Given the description of an element on the screen output the (x, y) to click on. 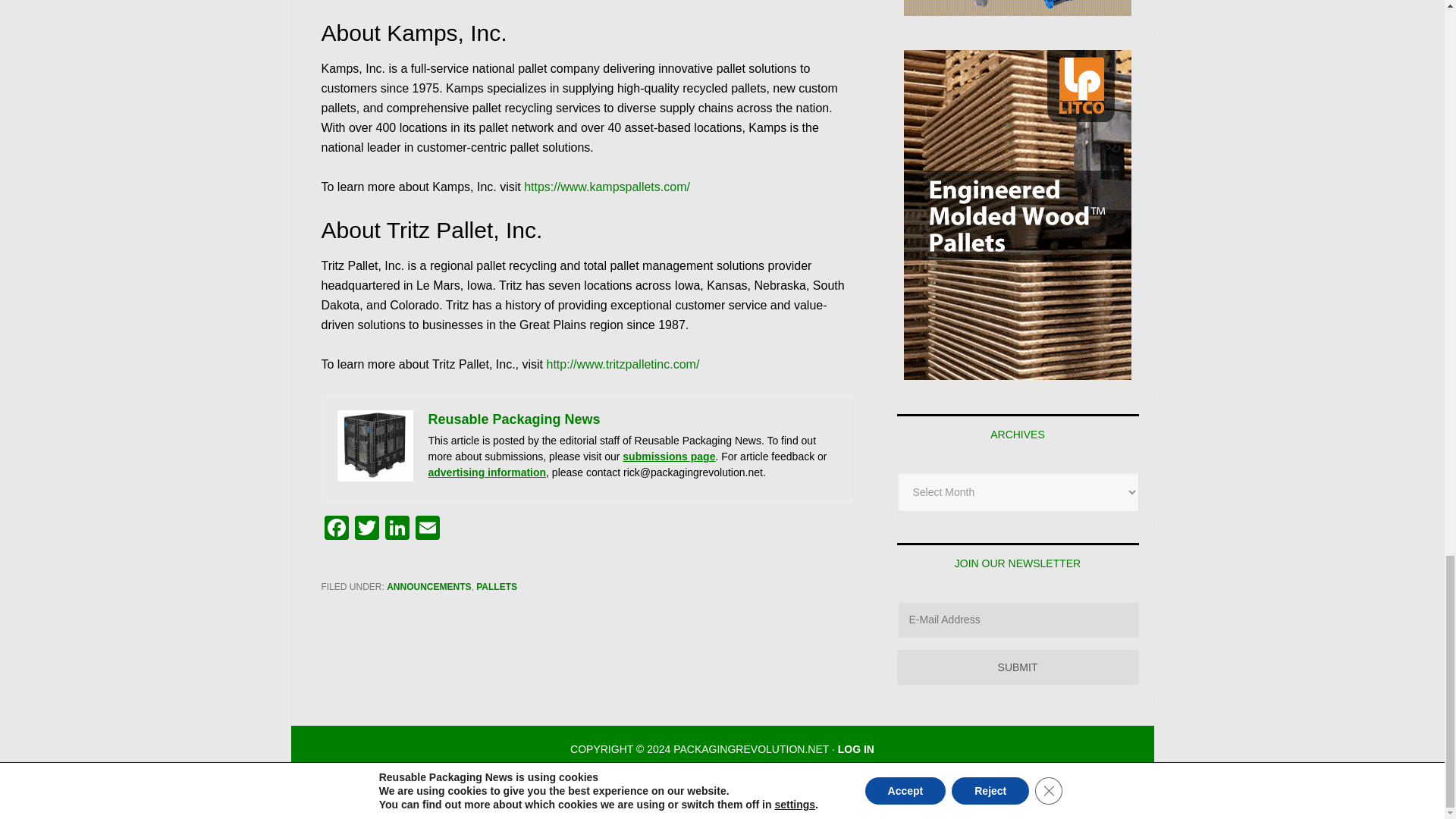
Twitter (366, 529)
advertising information (487, 472)
ANNOUNCEMENTS (428, 586)
PALLETS (496, 586)
Triple Diamond Plastics (1017, 7)
Email (427, 529)
Twitter (366, 529)
Facebook (336, 529)
LinkedIn (396, 529)
Email (427, 529)
submissions page (668, 456)
Reusable Packaging News (513, 418)
Litco.com (1017, 214)
LinkedIn (396, 529)
Facebook (336, 529)
